Given the description of an element on the screen output the (x, y) to click on. 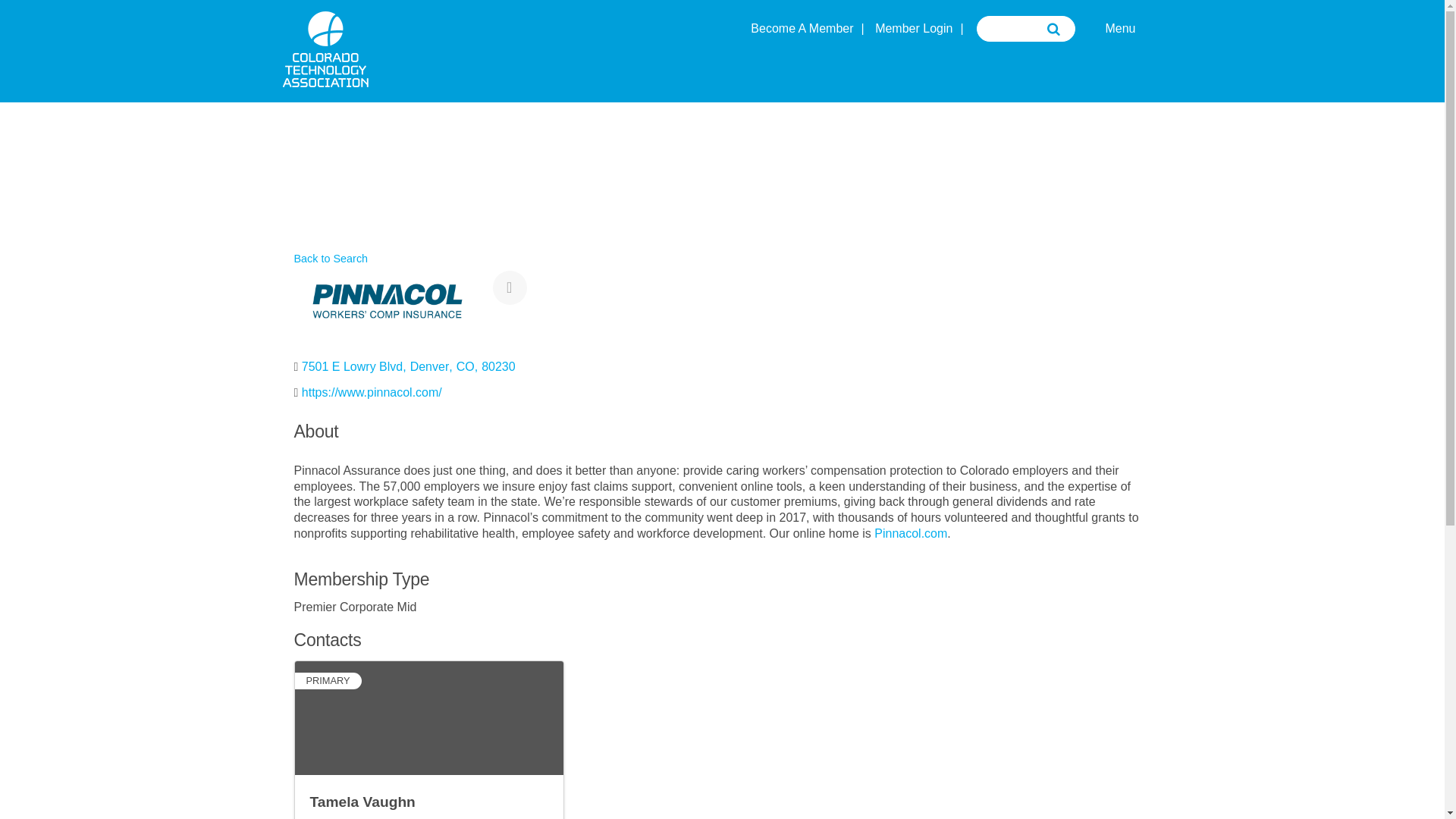
Pinnacol.com (911, 533)
Become A Member (802, 28)
Colorado Technology Association (325, 78)
Colorado Technology Association (325, 48)
Member Login (913, 28)
Menu (410, 366)
Back to Search (1120, 29)
Search (331, 258)
